Given the description of an element on the screen output the (x, y) to click on. 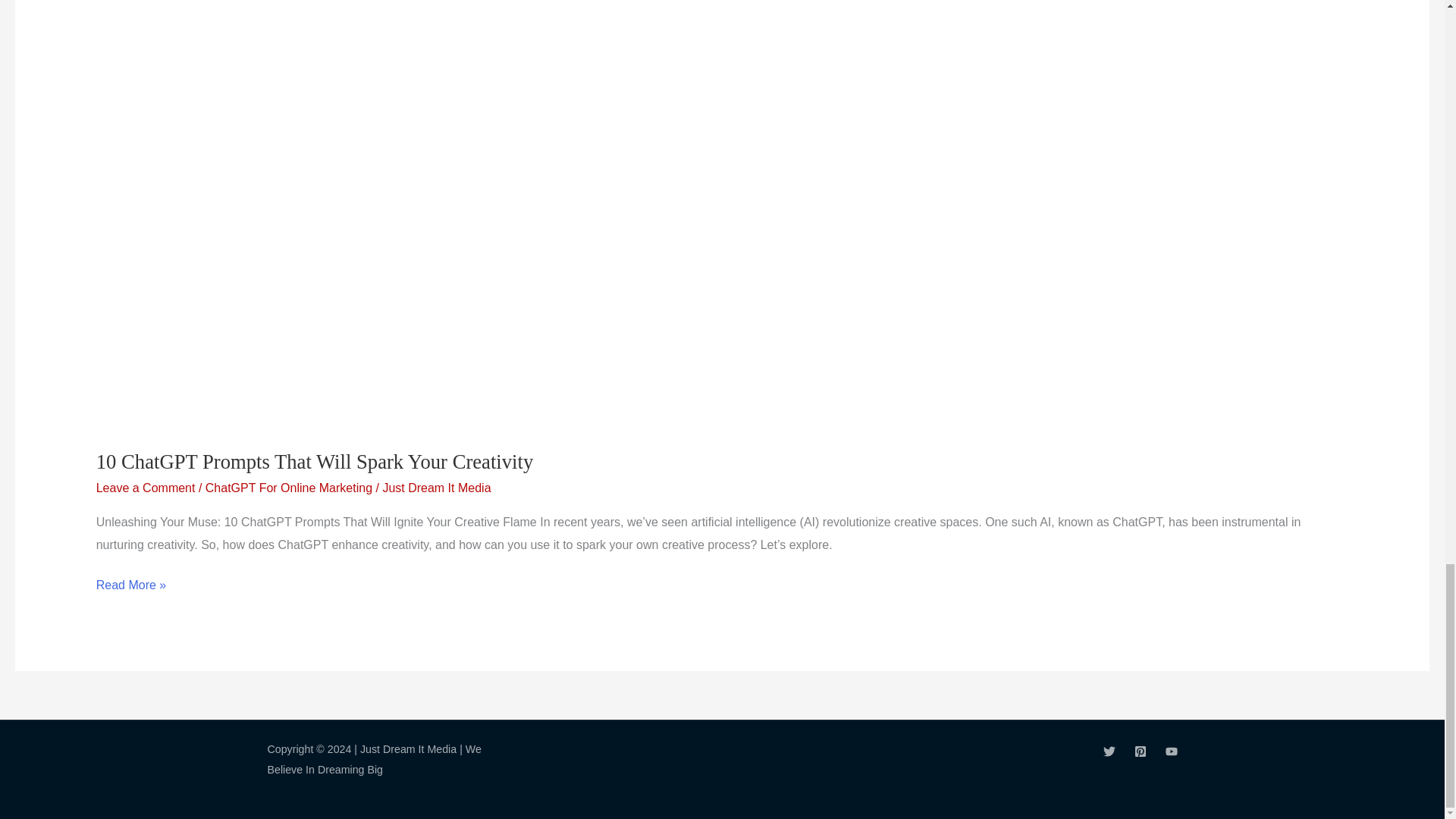
View all posts by Just Dream It Media (435, 487)
